Given the description of an element on the screen output the (x, y) to click on. 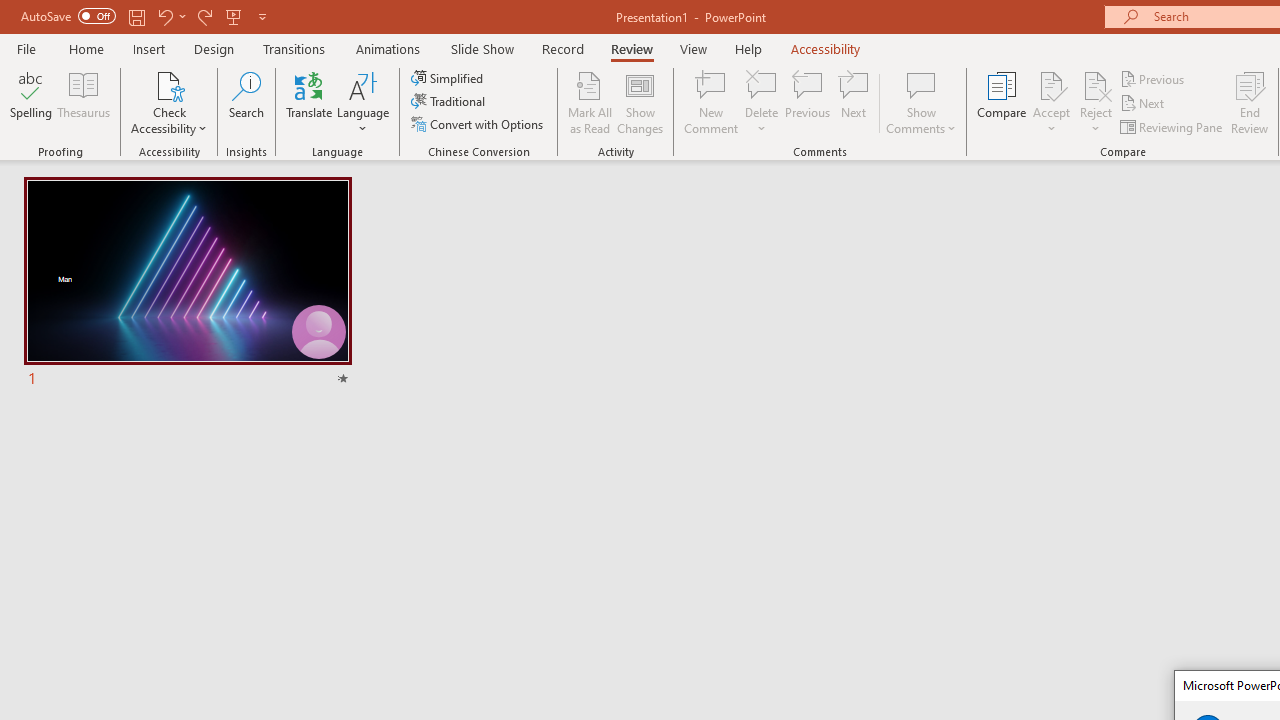
Convert with Options... (479, 124)
Show Changes (639, 102)
Thesaurus... (83, 102)
Reject Change (1096, 84)
